Given the description of an element on the screen output the (x, y) to click on. 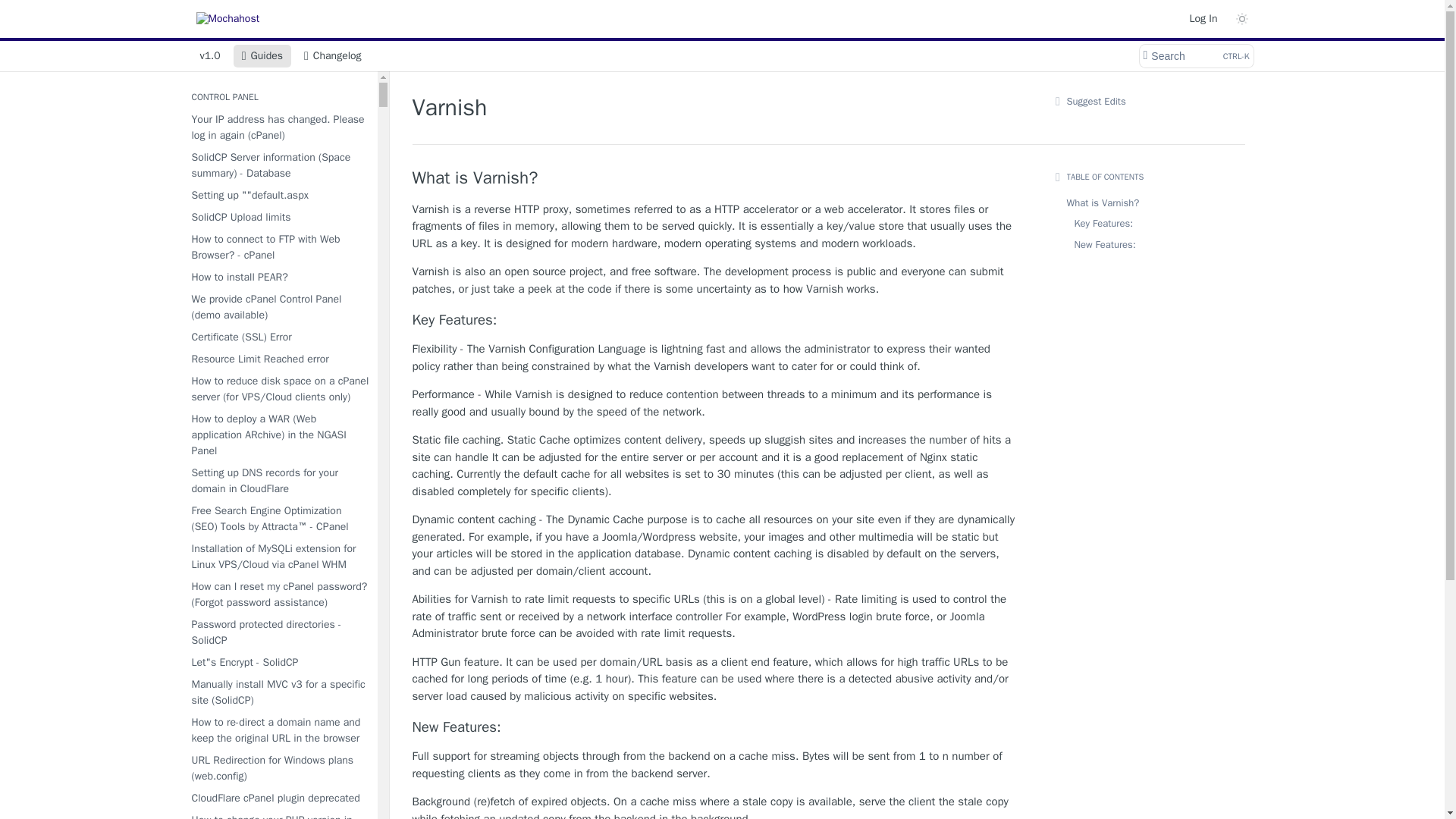
How to connect to FTP with Web Browser? - cPanel (277, 247)
Log In (1202, 18)
Password protected directories - SolidCP (277, 632)
Setting up DNS records for your domain in CloudFlare (277, 480)
How to change your PHP version in SolidCP (277, 814)
Changelog (332, 56)
What is Varnish? (715, 178)
Key Features: (715, 320)
Resource Limit Reached error (277, 358)
Guides (261, 56)
